Given the description of an element on the screen output the (x, y) to click on. 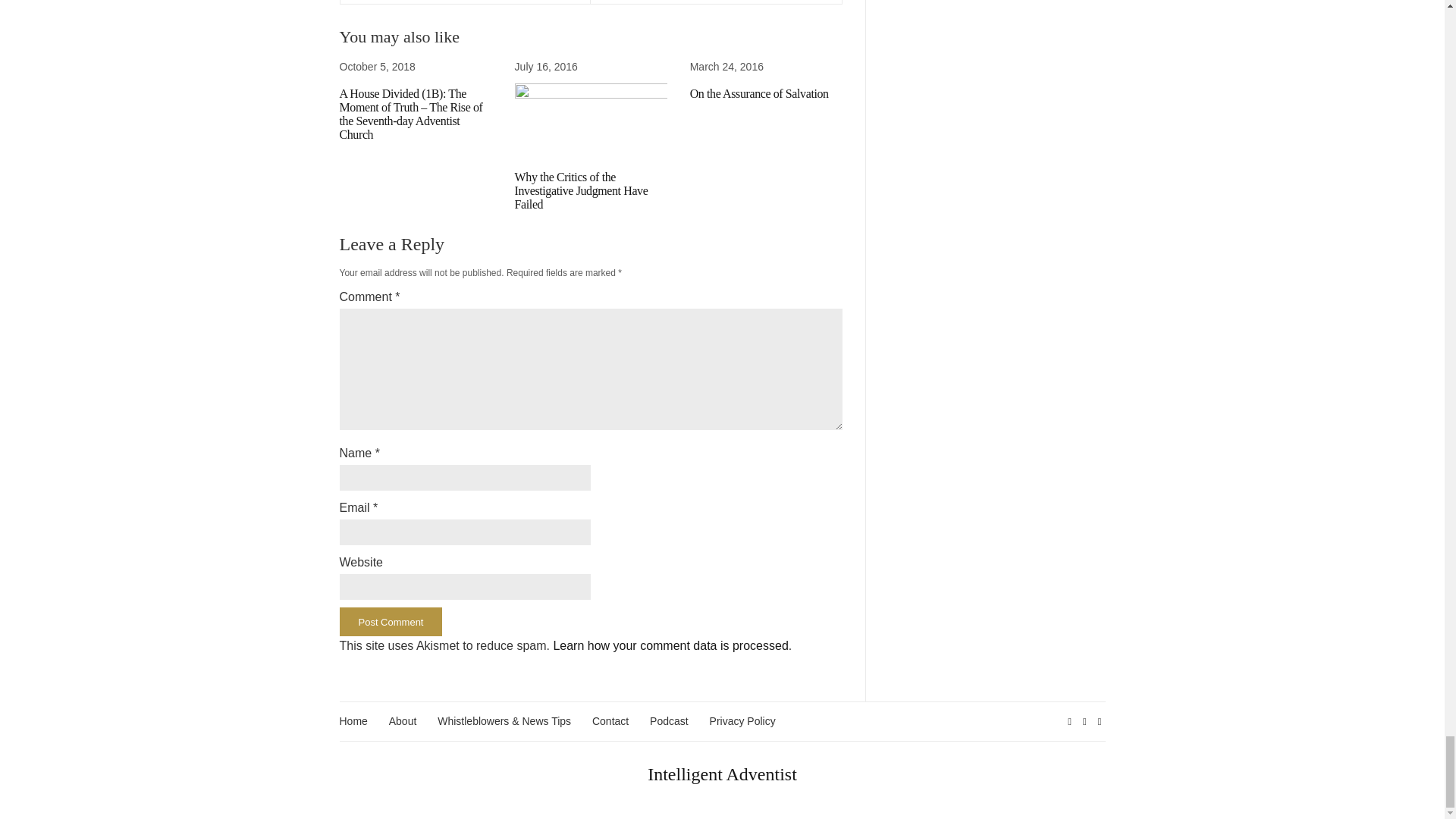
Why the Critics of the Investigative Judgment Have Failed (581, 190)
Previous Post (465, 2)
Post Comment (390, 621)
On the Assurance of Salvation (759, 92)
Post Comment (390, 621)
Learn how your comment data is processed (670, 645)
Next Post (716, 2)
